Given the description of an element on the screen output the (x, y) to click on. 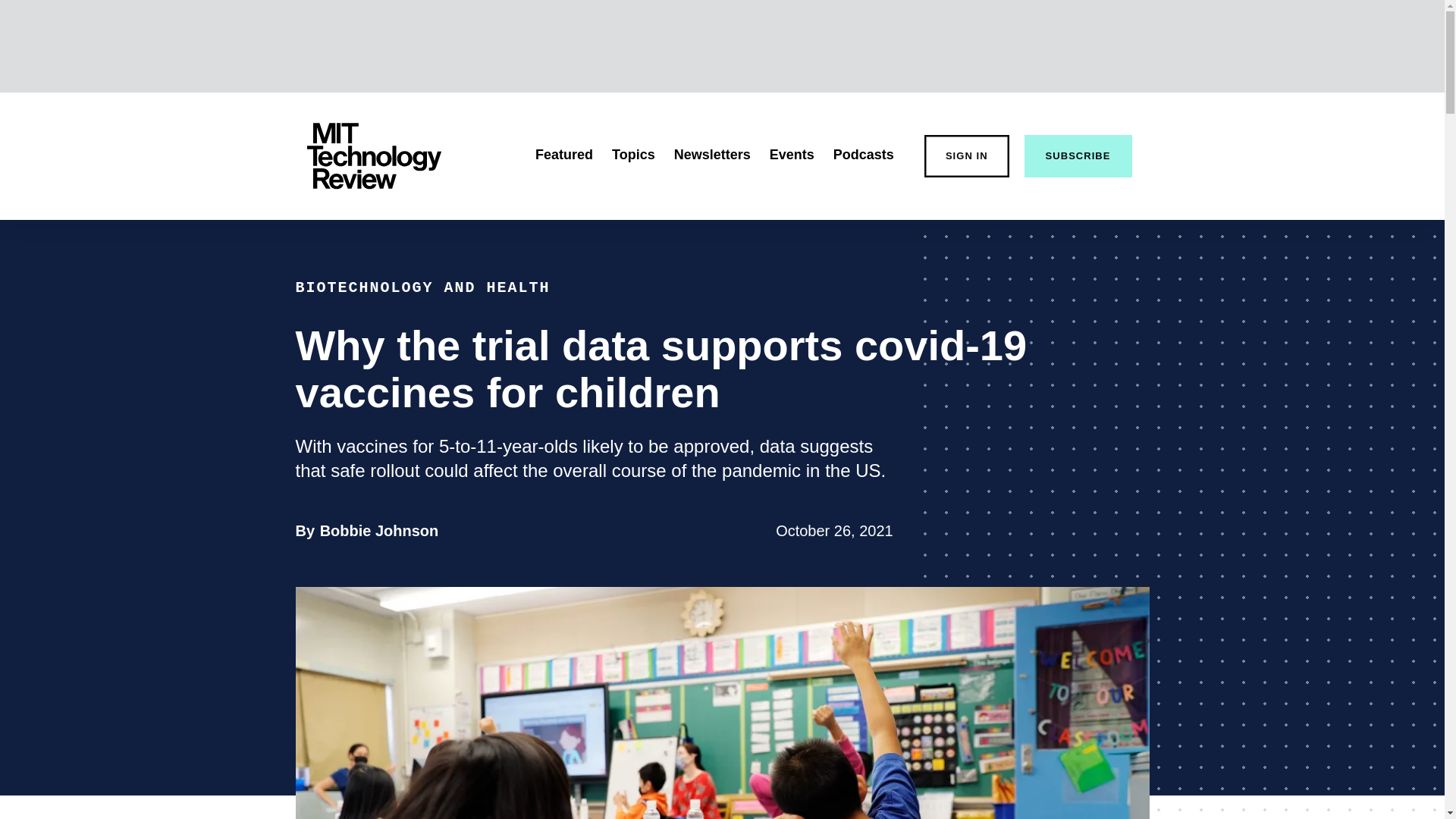
SIGN IN (966, 156)
Newsletters (712, 154)
MIT Technology Review (373, 155)
Featured (379, 530)
BIOTECHNOLOGY AND HEALTH (563, 154)
Events (422, 287)
Podcasts (791, 154)
Topics (862, 154)
SUBSCRIBE (633, 154)
